Given the description of an element on the screen output the (x, y) to click on. 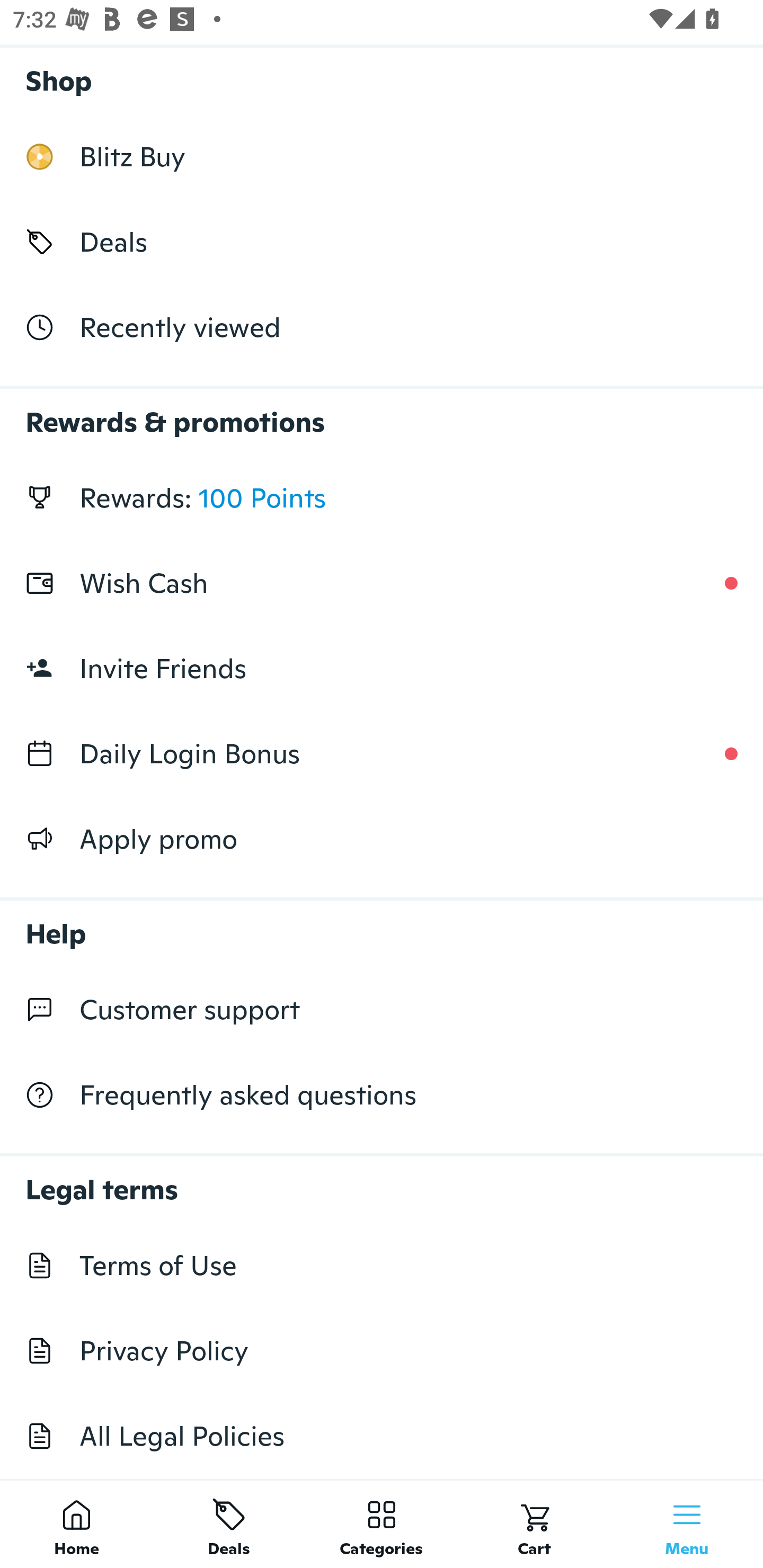
Shop (381, 75)
Blitz Buy (381, 156)
Deals (381, 242)
Recently viewed (381, 326)
Rewards & promotions (381, 413)
Rewards: 100 Points (381, 497)
Wish Cash (381, 582)
Invite Friends (381, 668)
Daily Login Bonus (381, 753)
Apply promo (381, 838)
Help (381, 924)
Customer support (381, 1009)
Frequently asked questions (381, 1095)
Legal terms (381, 1179)
Terms of Use (381, 1265)
Privacy Policy (381, 1350)
All Legal Policies (381, 1435)
Home (76, 1523)
Deals (228, 1523)
Categories (381, 1523)
Cart (533, 1523)
Menu (686, 1523)
